Given the description of an element on the screen output the (x, y) to click on. 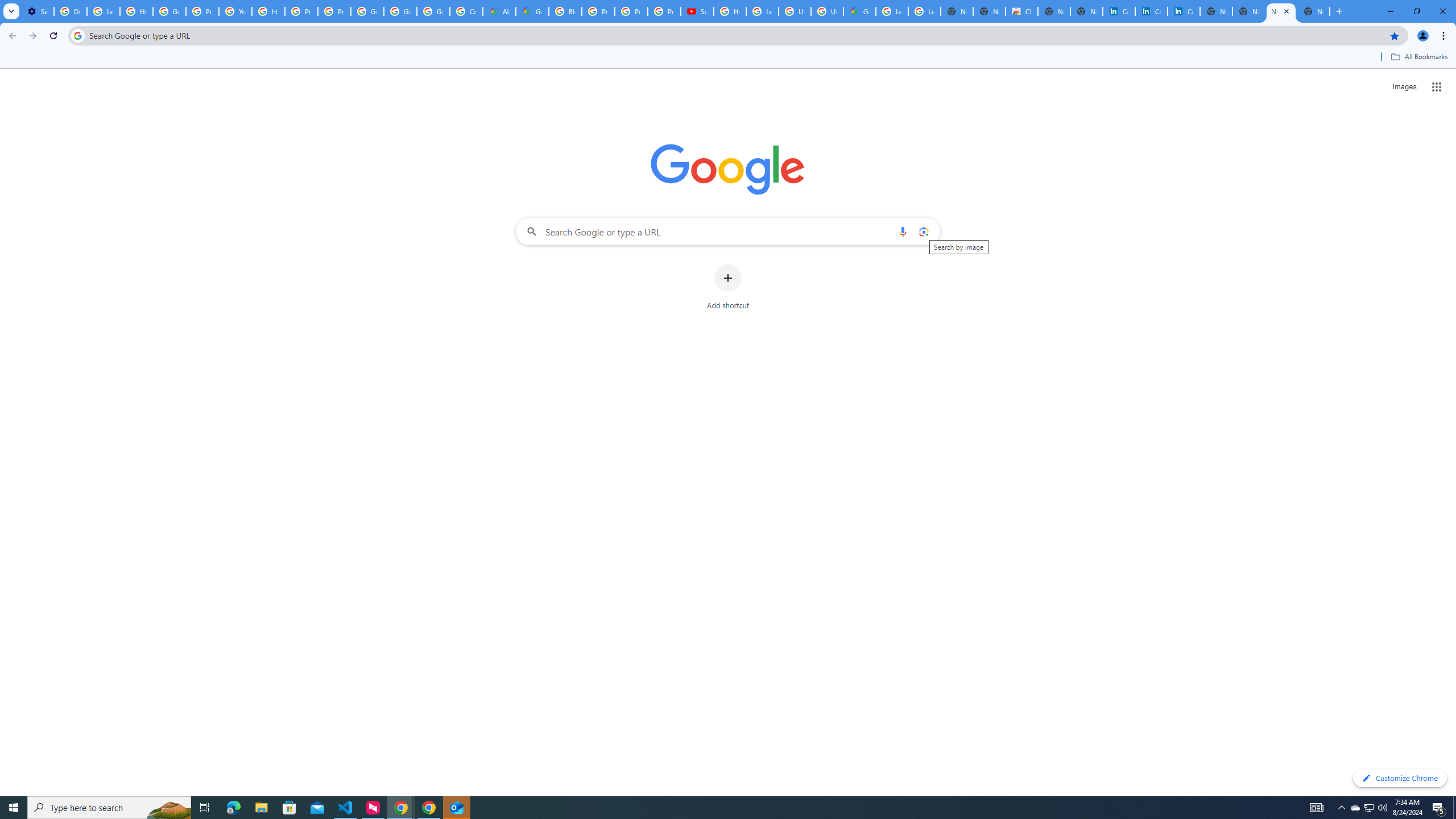
Learn how to find your photos - Google Photos Help (103, 11)
Google Maps (859, 11)
Privacy Help Center - Policies Help (631, 11)
Subscriptions - YouTube (697, 11)
Bookmarks (728, 58)
